Given the description of an element on the screen output the (x, y) to click on. 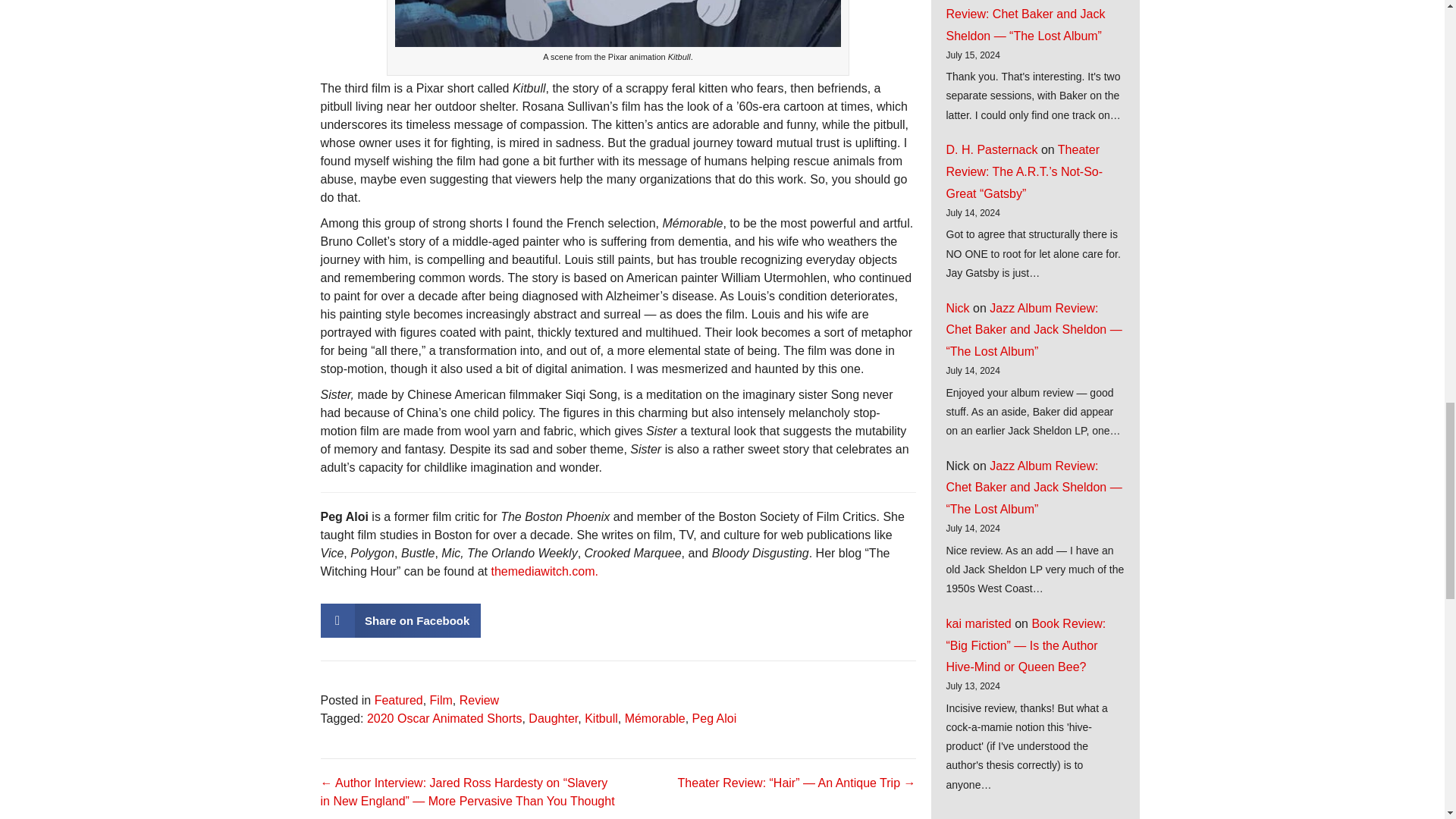
Share on Facebook (400, 620)
2020 Oscar Animated Shorts (444, 717)
Review (479, 699)
Film (440, 699)
Featured (398, 699)
Daughter (553, 717)
themediawitch.com. (545, 571)
